Given the description of an element on the screen output the (x, y) to click on. 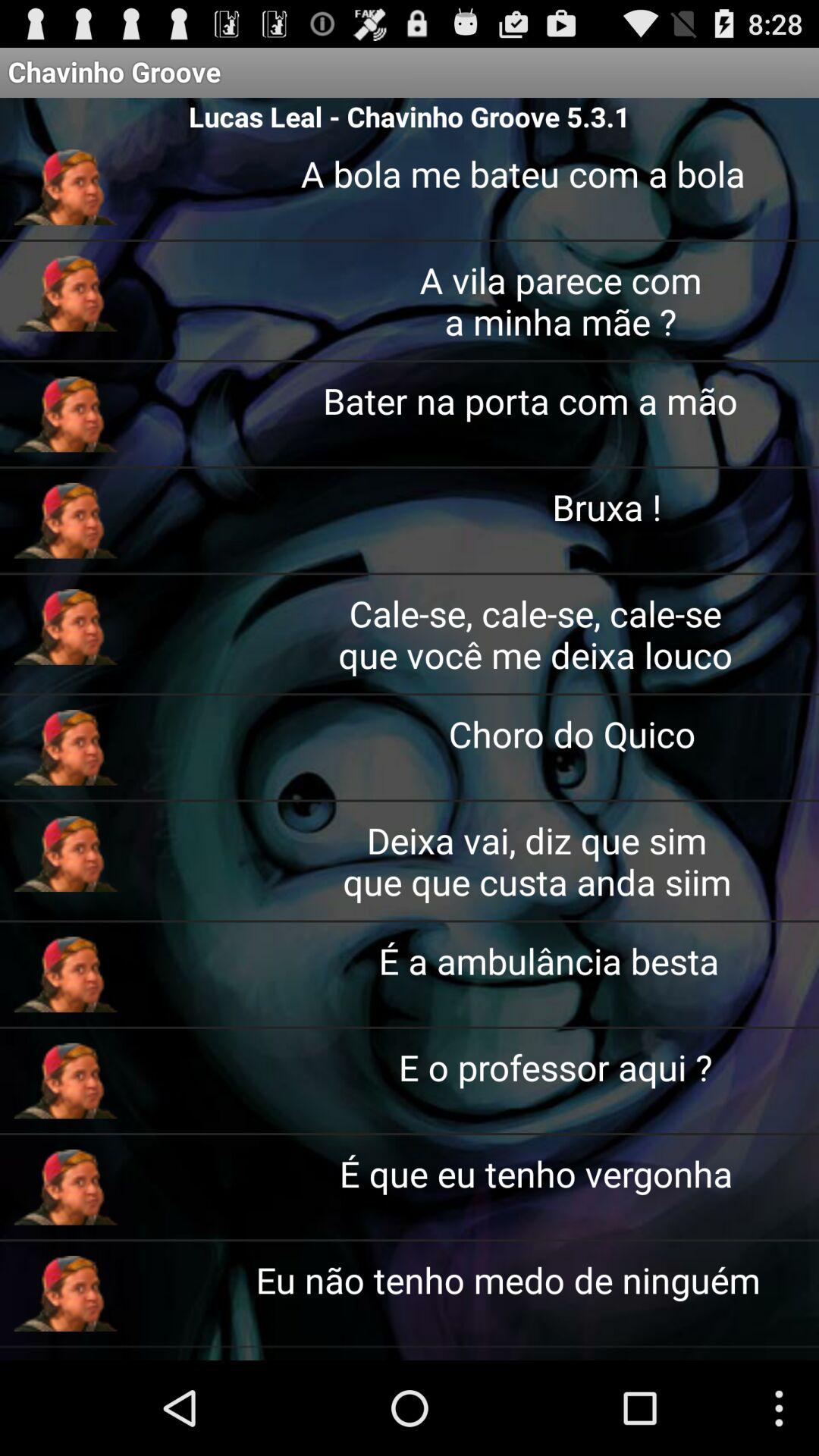
select last but two image (65, 1081)
select the last but one image (65, 1187)
click on the fifth image from the top (65, 626)
select the image on the bottom left corner of the web page (65, 1293)
